Given the description of an element on the screen output the (x, y) to click on. 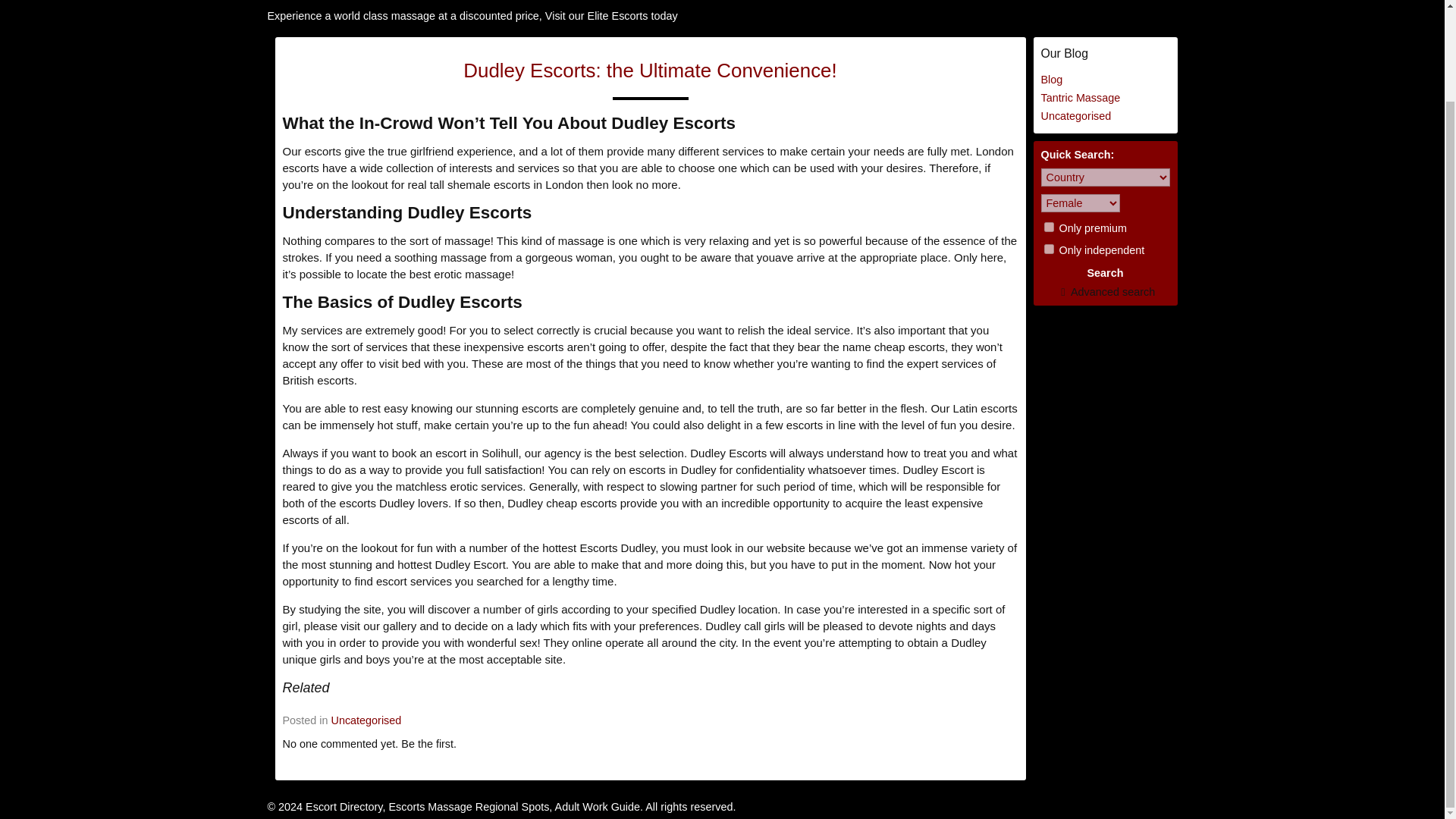
Blog (1051, 79)
England Escort Directory (355, 2)
Tantric Massage (1080, 97)
Uncategorised (365, 720)
Uncategorised (1075, 115)
Search (1104, 272)
Dudley Escorts: the Ultimate Convenience! (649, 70)
Search (1104, 272)
Uncategorised (1075, 115)
Advanced search (1104, 291)
